Given the description of an element on the screen output the (x, y) to click on. 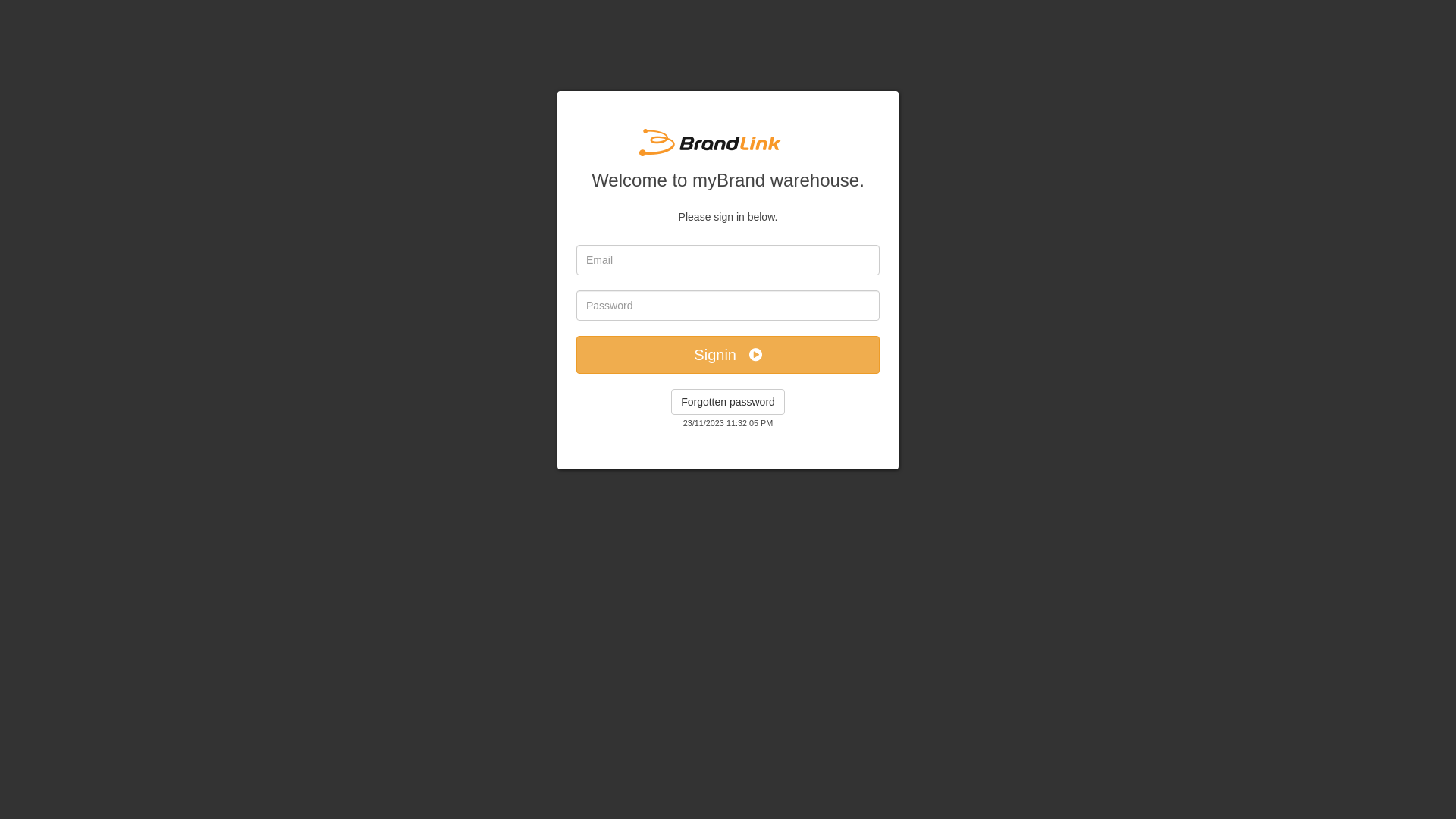
Signin   Element type: text (727, 354)
Forgotten password Element type: text (727, 401)
